Given the description of an element on the screen output the (x, y) to click on. 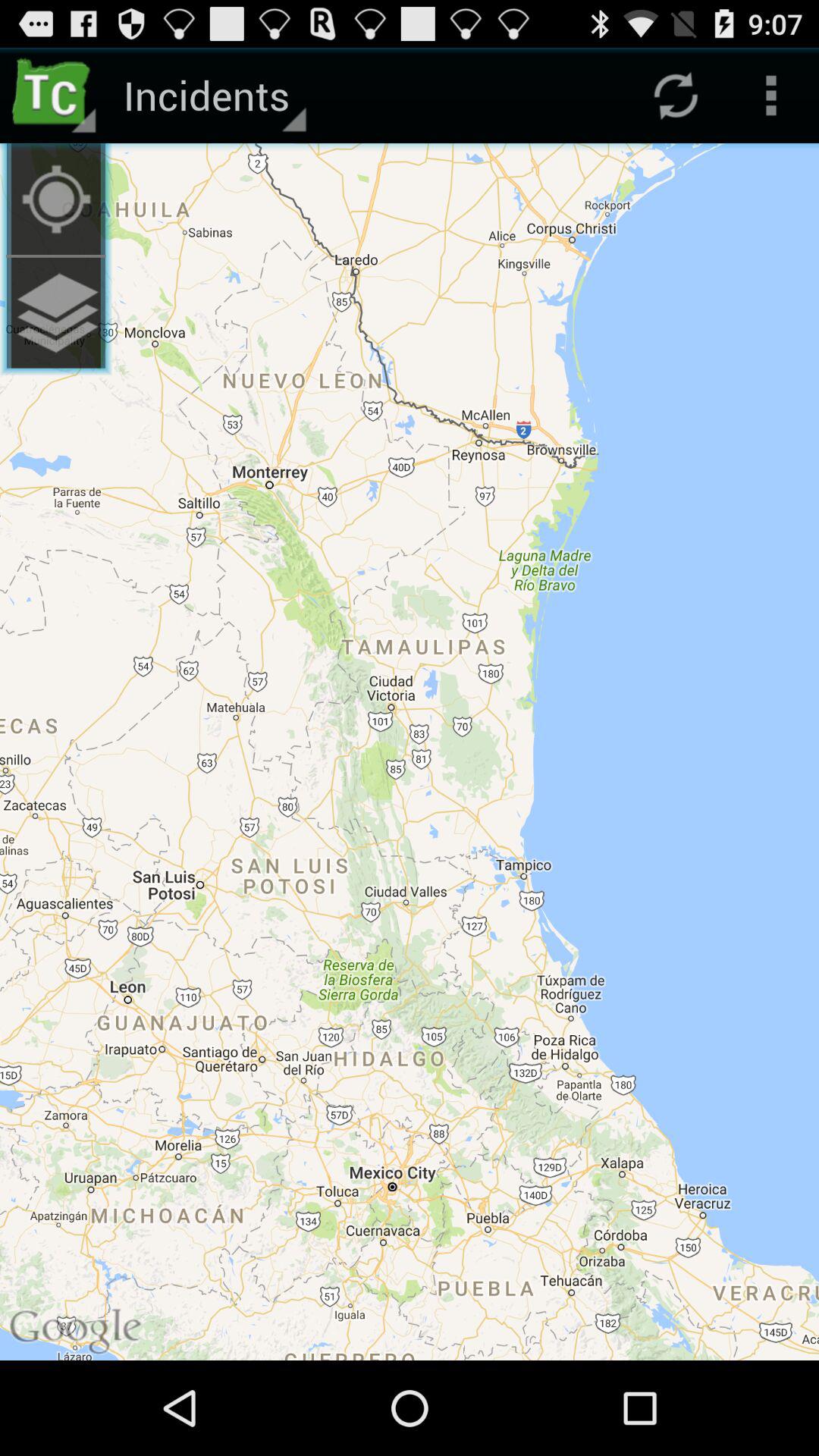
launch icon next to the incidents app (55, 198)
